Given the description of an element on the screen output the (x, y) to click on. 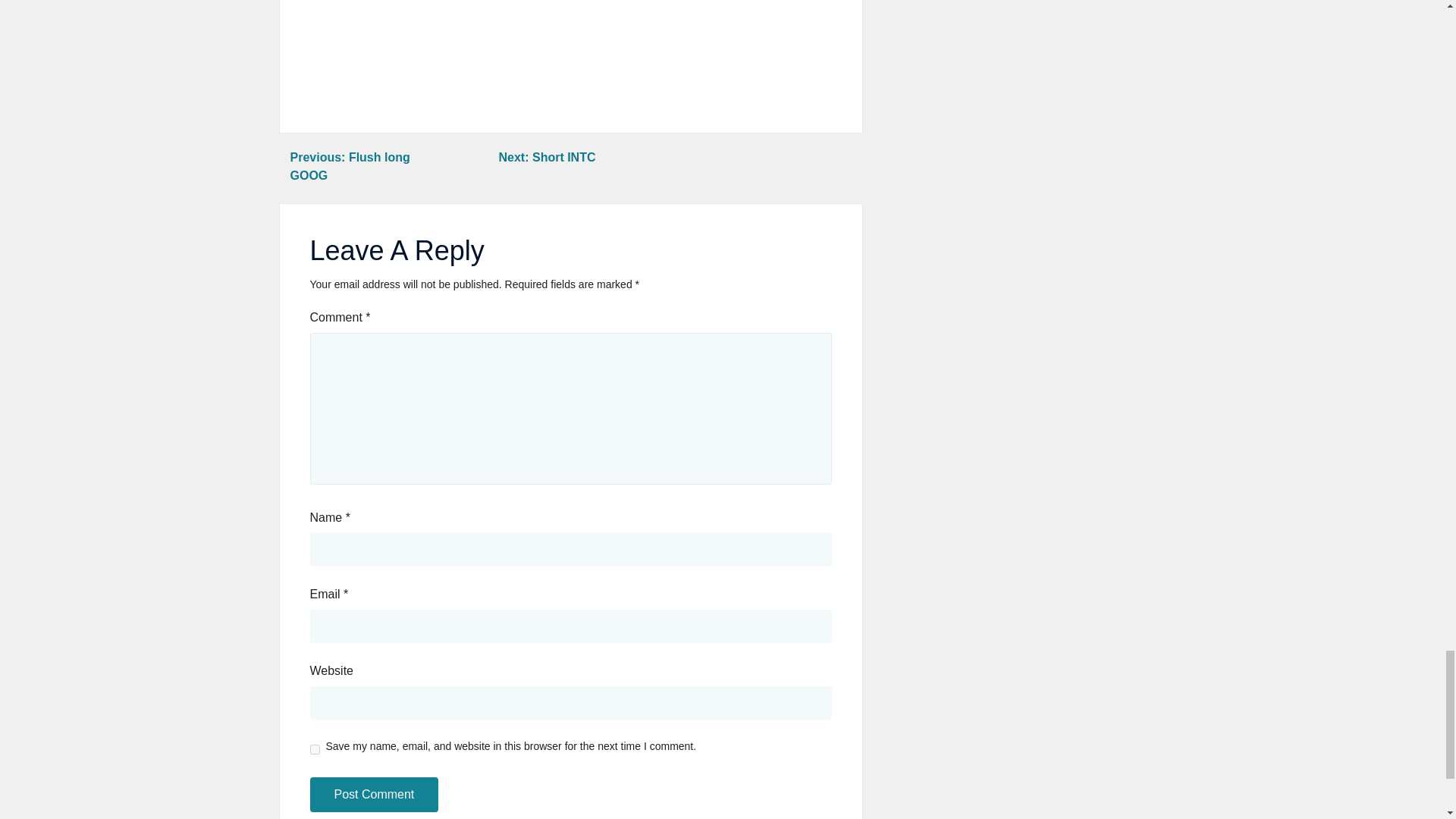
Post Comment (373, 794)
Next: Short INTC (546, 156)
Previous: Flush long GOOG (349, 165)
Post Comment (373, 794)
yes (313, 749)
